Given the description of an element on the screen output the (x, y) to click on. 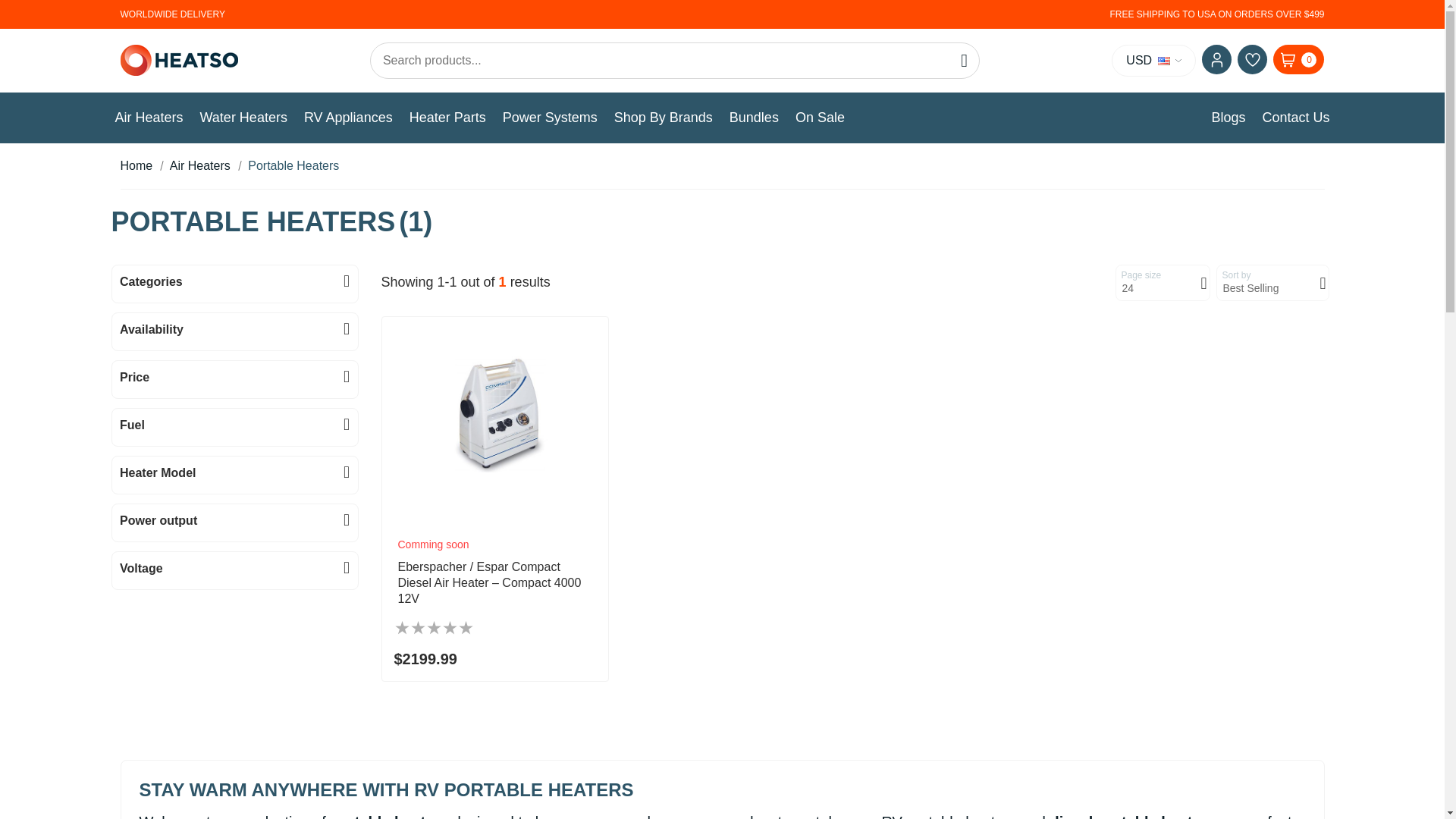
USD (1153, 60)
Air Heaters (148, 117)
0 (1297, 58)
Chat (1406, 779)
